Given the description of an element on the screen output the (x, y) to click on. 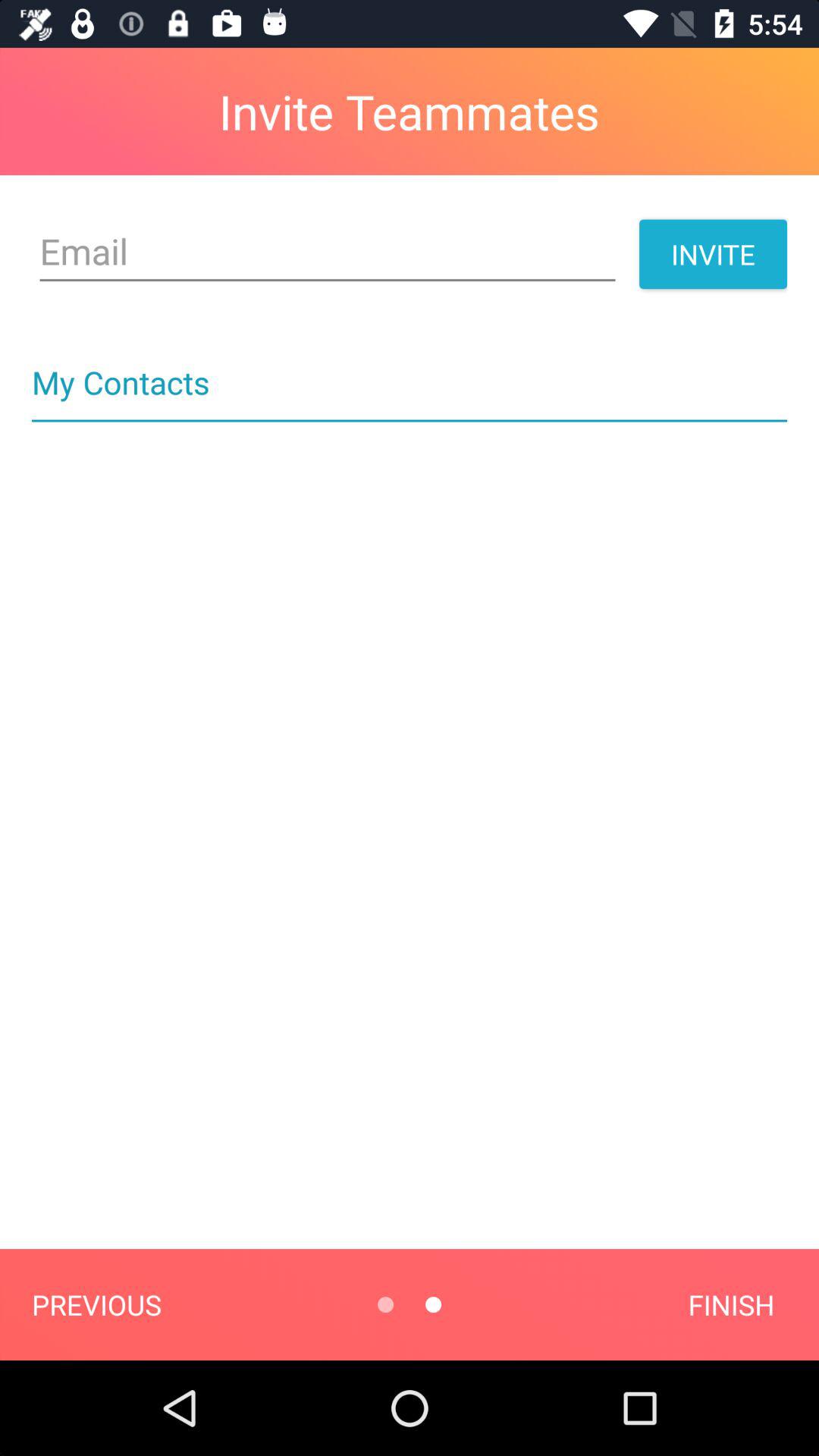
press previous icon (96, 1304)
